Given the description of an element on the screen output the (x, y) to click on. 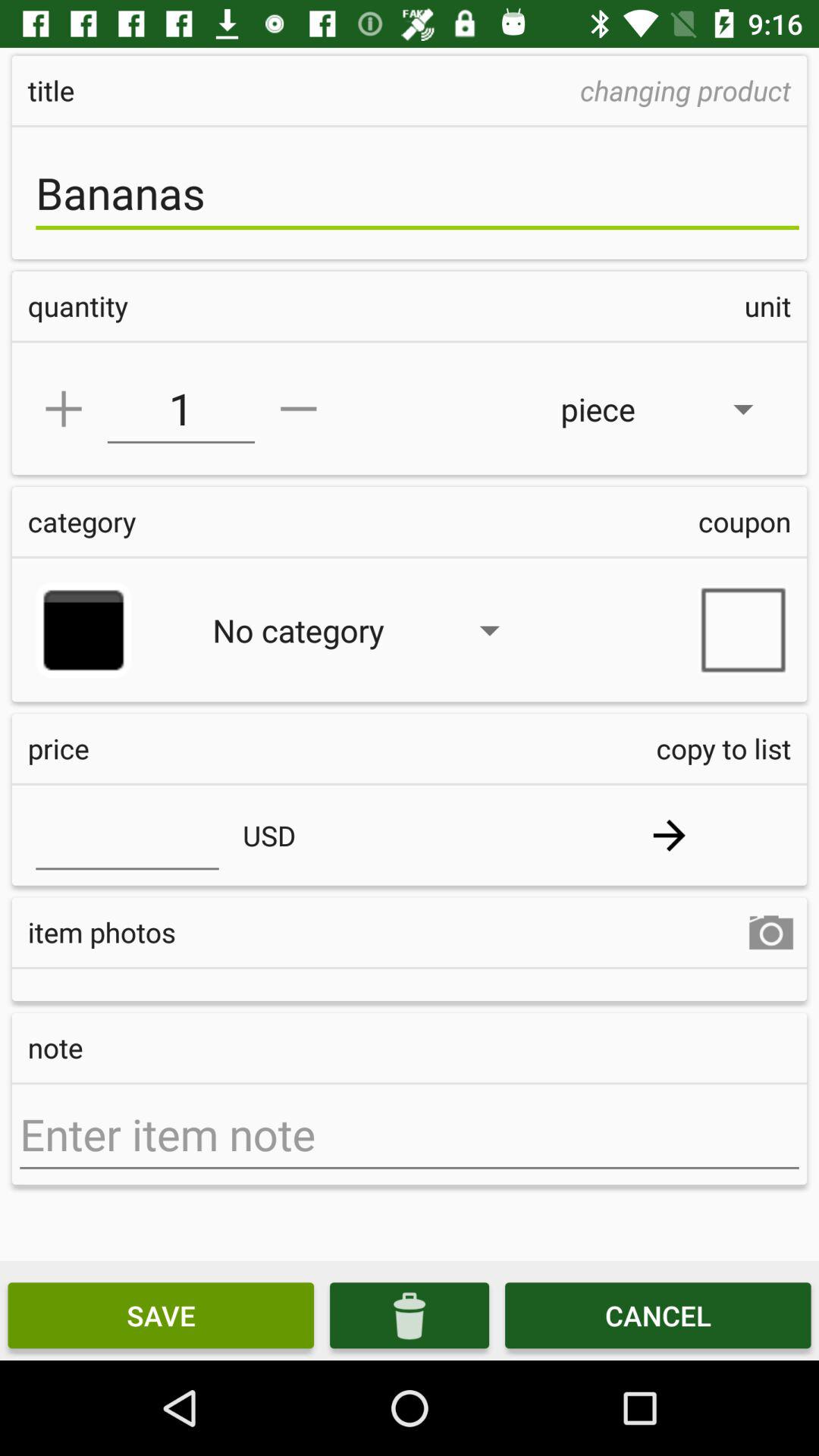
select icon next to the save item (409, 1315)
